Given the description of an element on the screen output the (x, y) to click on. 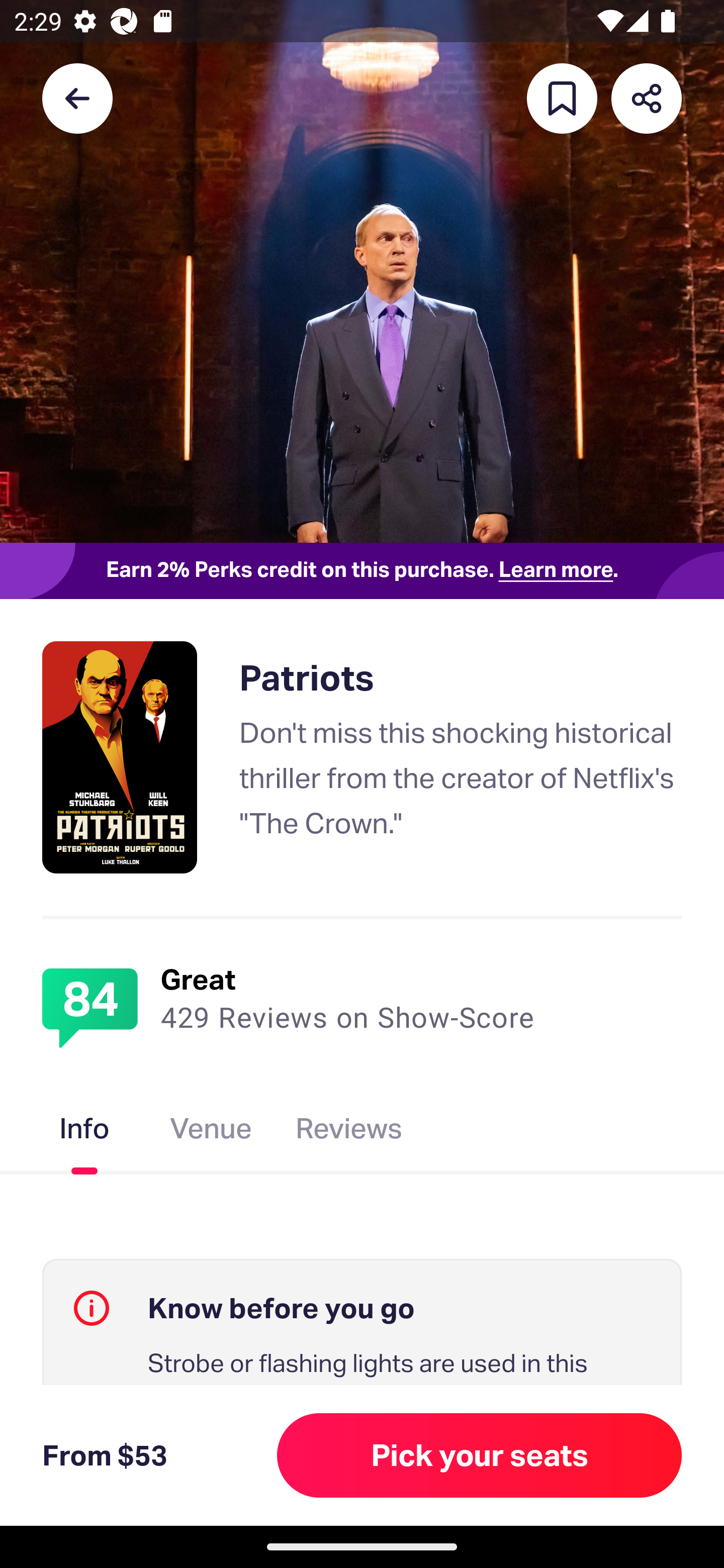
Earn 2% Perks credit on this purchase. Learn more. (362, 570)
Venue (210, 1131)
Reviews (348, 1131)
Pick your seats (479, 1454)
